Given the description of an element on the screen output the (x, y) to click on. 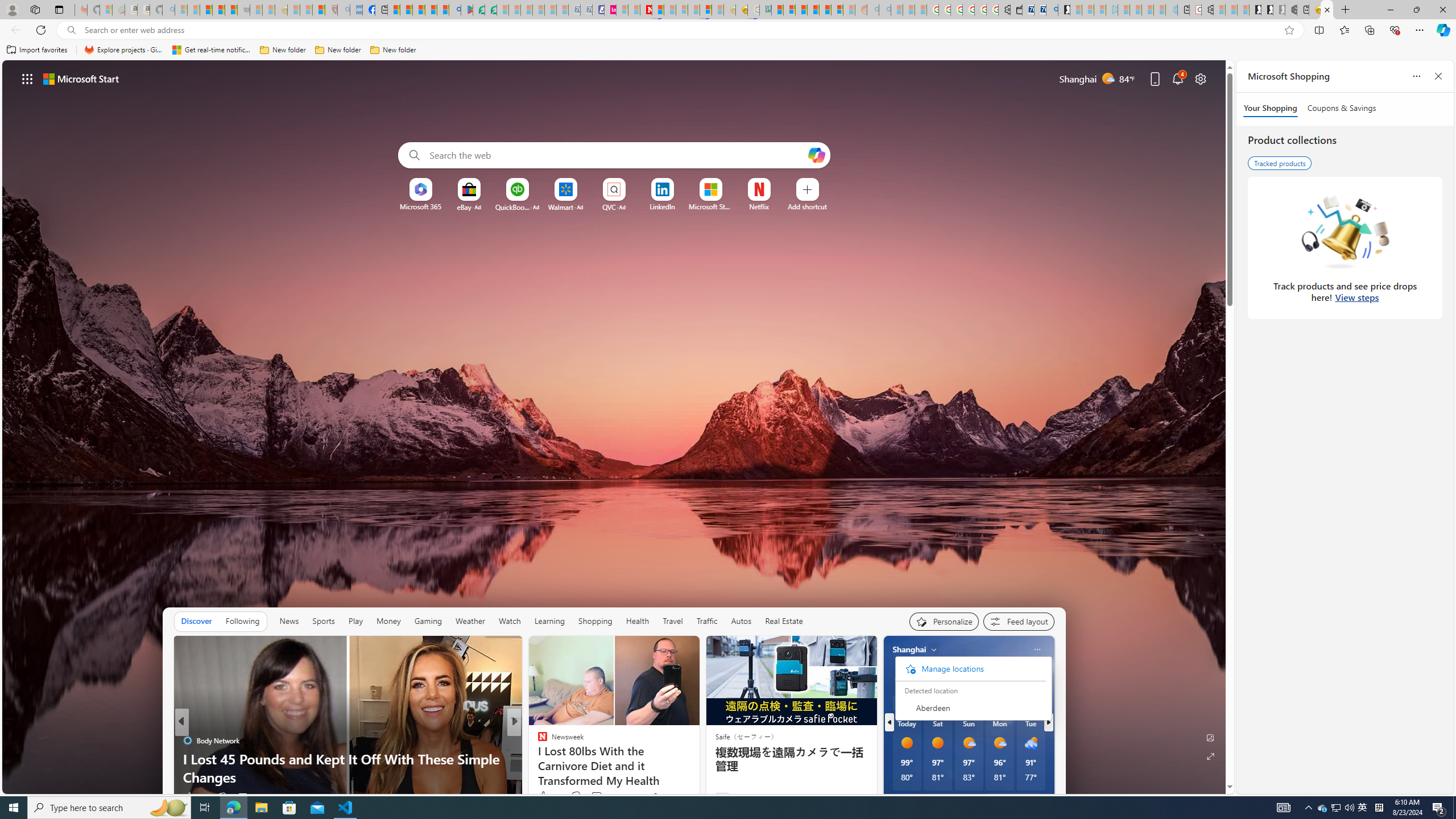
Latest Politics News & Archive | Newsweek.com (645, 9)
Edit Background (1210, 737)
Offline games - Android Apps on Google Play (466, 9)
Microsoft Word - consumer-privacy address update 2.2021 (491, 9)
Robert H. Shmerling, MD - Harvard Health - Sleeping (331, 9)
Mostly sunny (999, 742)
Cheap Car Rentals - Save70.com - Sleeping (574, 9)
MSNBC - MSN (777, 9)
The Weather Channel - MSN (205, 9)
Gaming (428, 621)
